Given the description of an element on the screen output the (x, y) to click on. 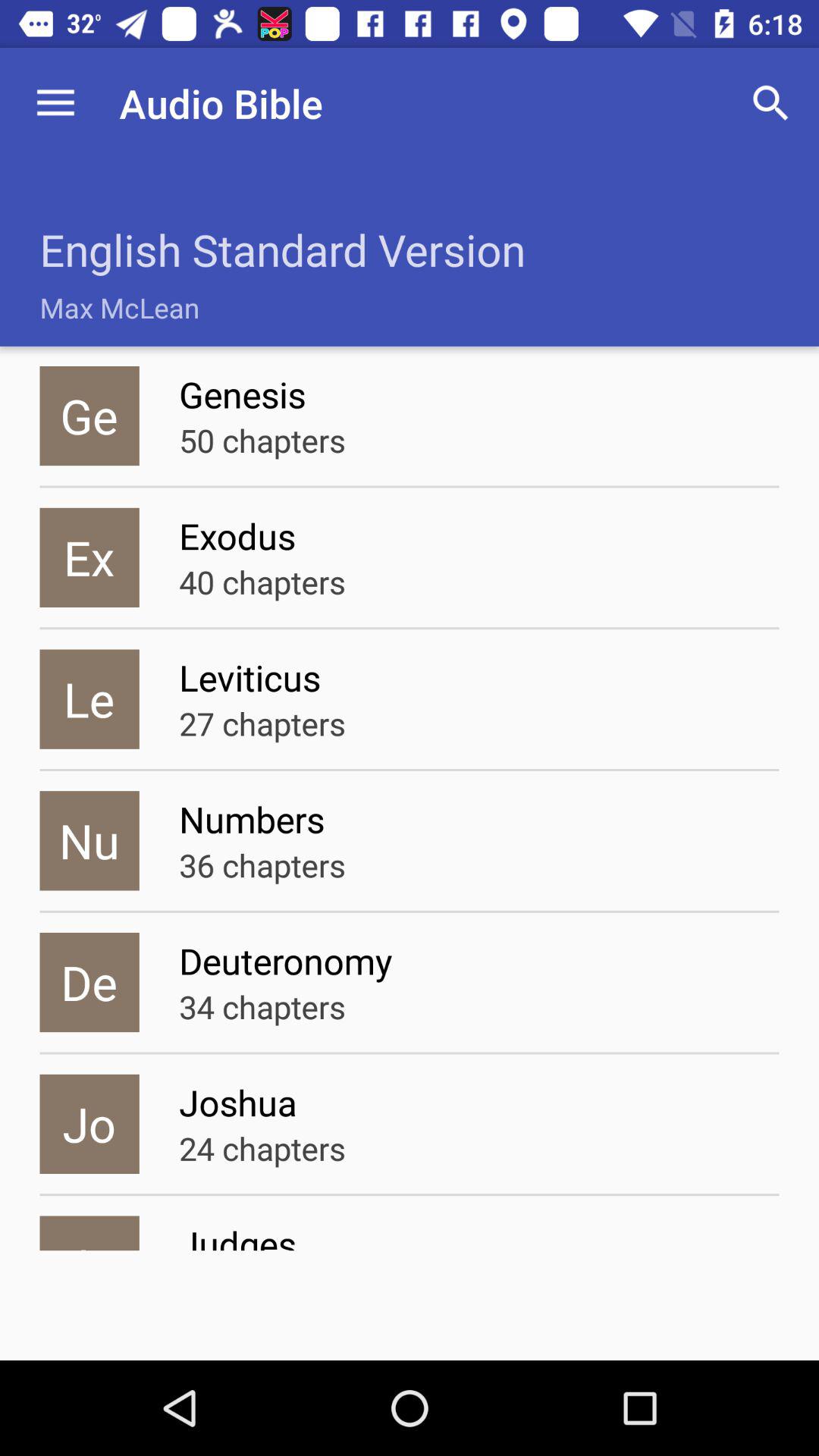
choose item to the right of ju (479, 1234)
